Given the description of an element on the screen output the (x, y) to click on. 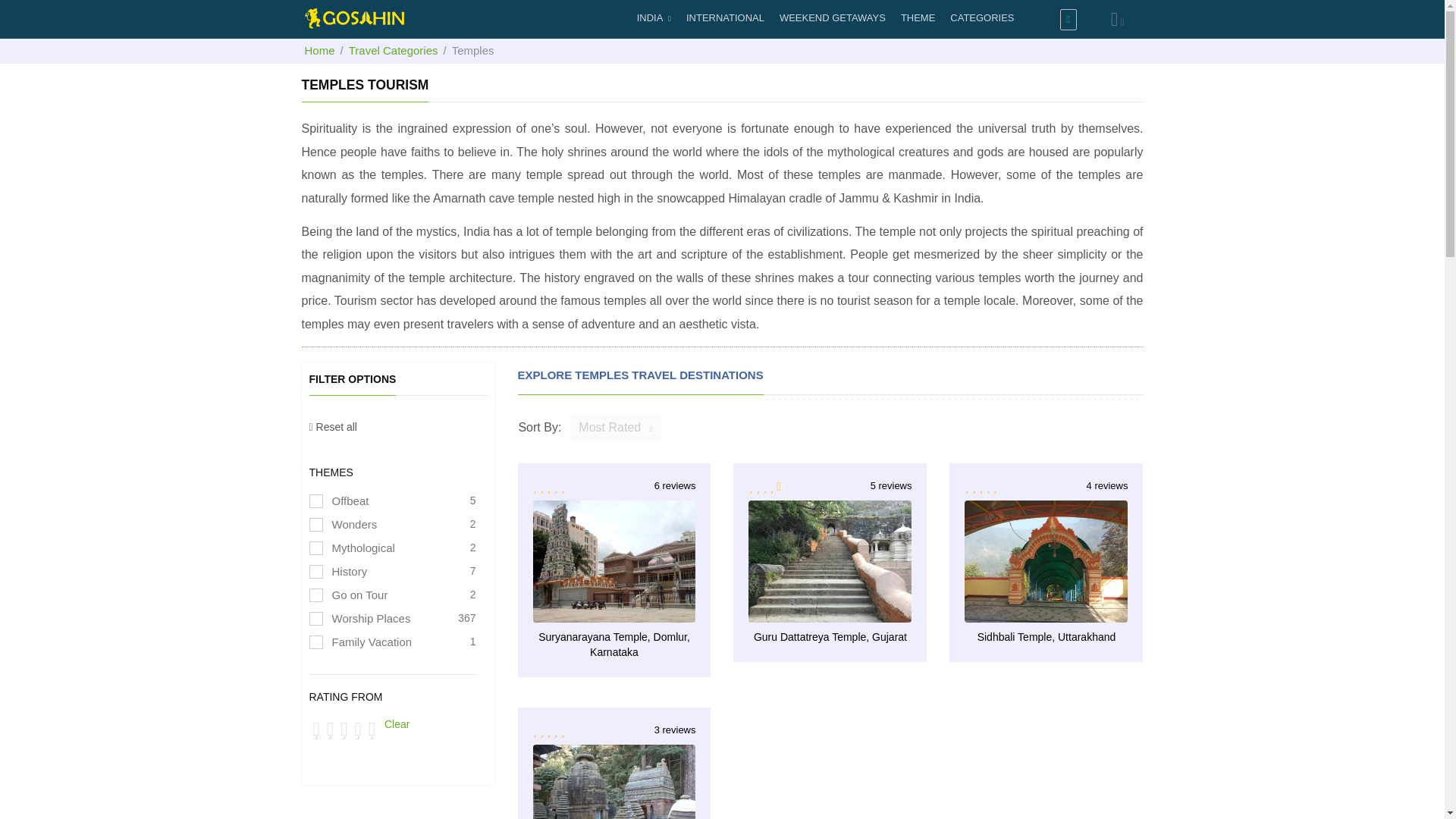
Most Rated (833, 600)
Reset all (615, 427)
CATEGORIES (332, 426)
Home (981, 17)
THEME (319, 50)
Travel Categories (1049, 600)
Clear (617, 809)
